Given the description of an element on the screen output the (x, y) to click on. 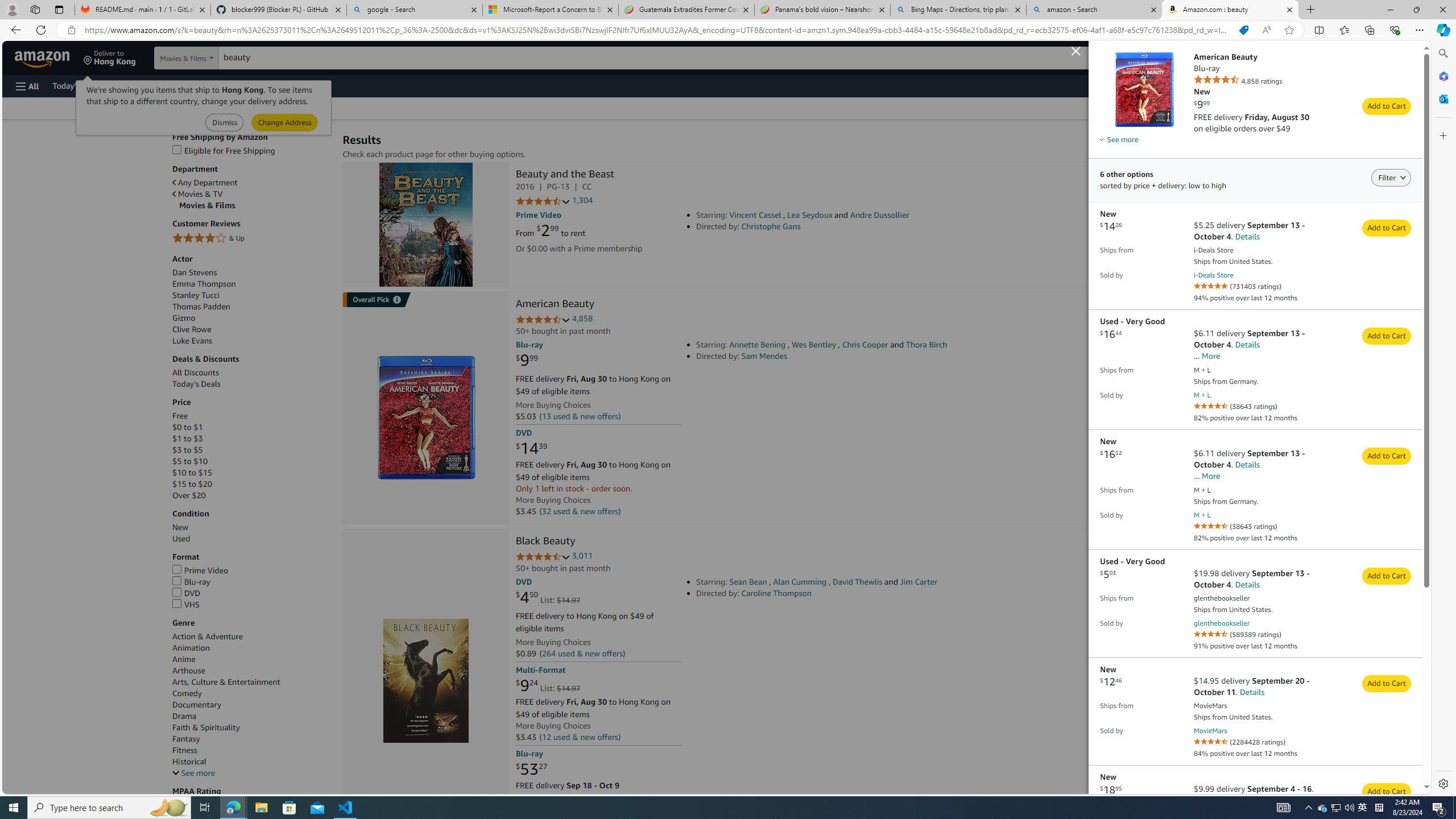
Sell (290, 85)
4.6 out of 5 stars (542, 319)
VHS (185, 604)
Sam Mendes (764, 355)
1 item in cart (1324, 57)
Clive Rowe (251, 329)
Luke Evans (191, 340)
$10 to $15 (191, 472)
(12 used & new offers) (579, 736)
Side bar (1443, 418)
Add to Cart from seller newtownvideos and price $18.95  (1386, 790)
Back (13, 29)
Luke Evans (251, 340)
4 Stars & Up (251, 238)
Historical (188, 761)
